Given the description of an element on the screen output the (x, y) to click on. 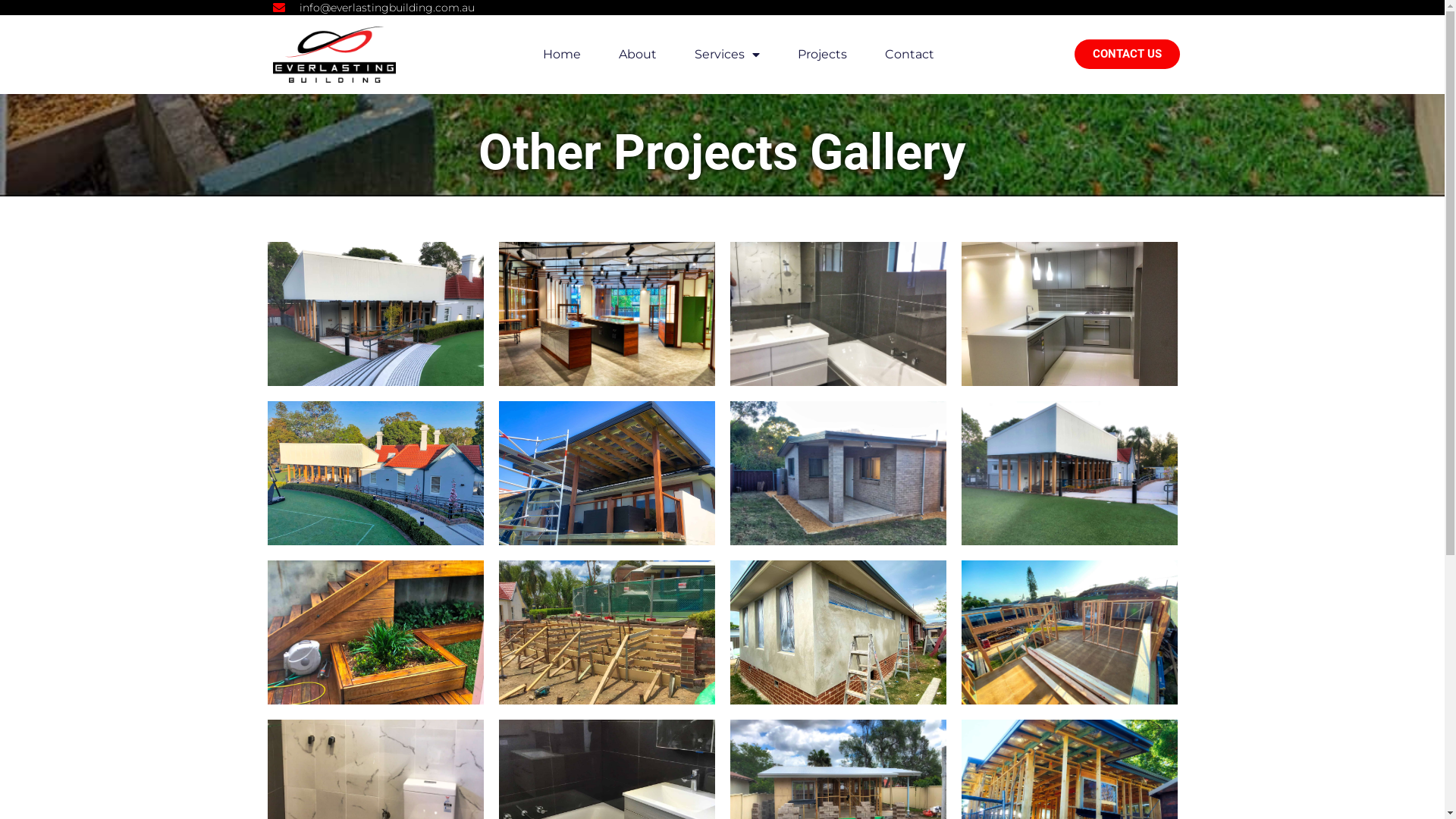
About Element type: text (637, 54)
Projects Element type: text (822, 54)
Contact Element type: text (908, 54)
info@everlastingbuilding.com.au Element type: text (373, 7)
CONTACT US Element type: text (1126, 54)
Home Element type: text (561, 54)
Services Element type: text (726, 54)
